Given the description of an element on the screen output the (x, y) to click on. 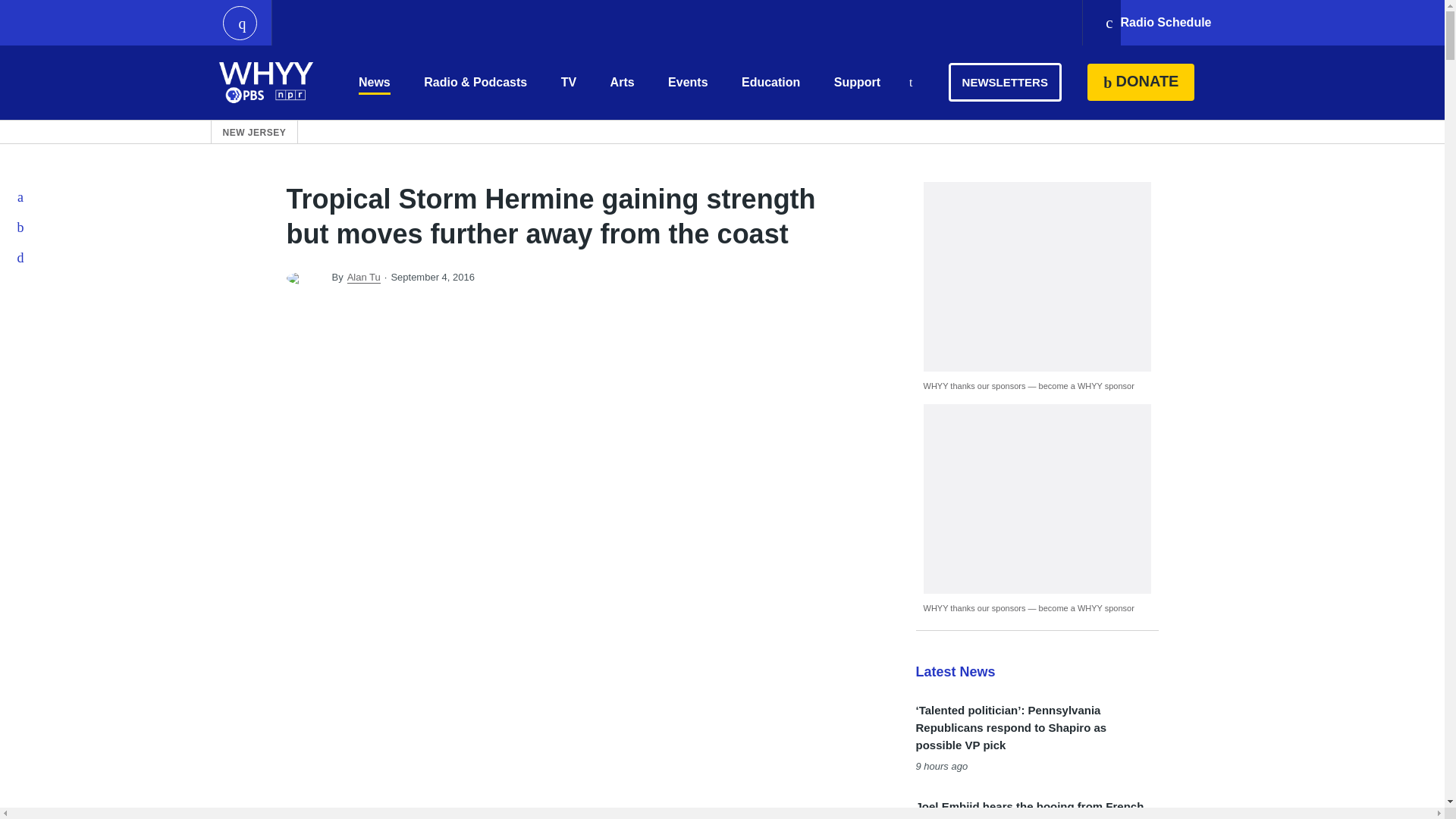
Email (21, 257)
Twitter (21, 227)
Search (910, 83)
Facebook (21, 196)
Email (21, 257)
Facebook (21, 196)
WHYY (266, 82)
Twitter (21, 227)
Radio Schedule (1157, 22)
NEW JERSEY (254, 132)
